Given the description of an element on the screen output the (x, y) to click on. 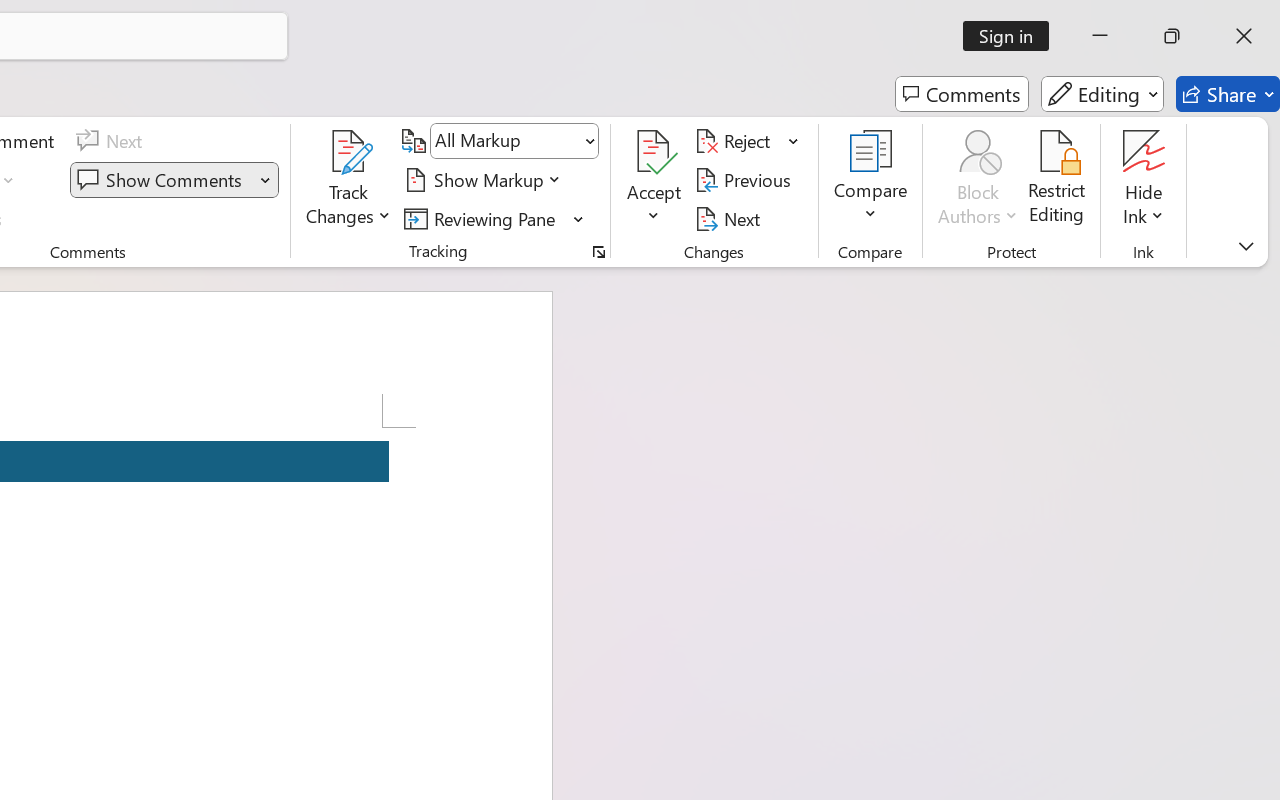
Editing (1101, 94)
Hide Ink (1144, 151)
Next (730, 218)
Show Comments (162, 179)
Previous (745, 179)
Reject (747, 141)
Block Authors (977, 151)
Hide Ink (1144, 179)
Change Tracking Options... (598, 252)
